Given the description of an element on the screen output the (x, y) to click on. 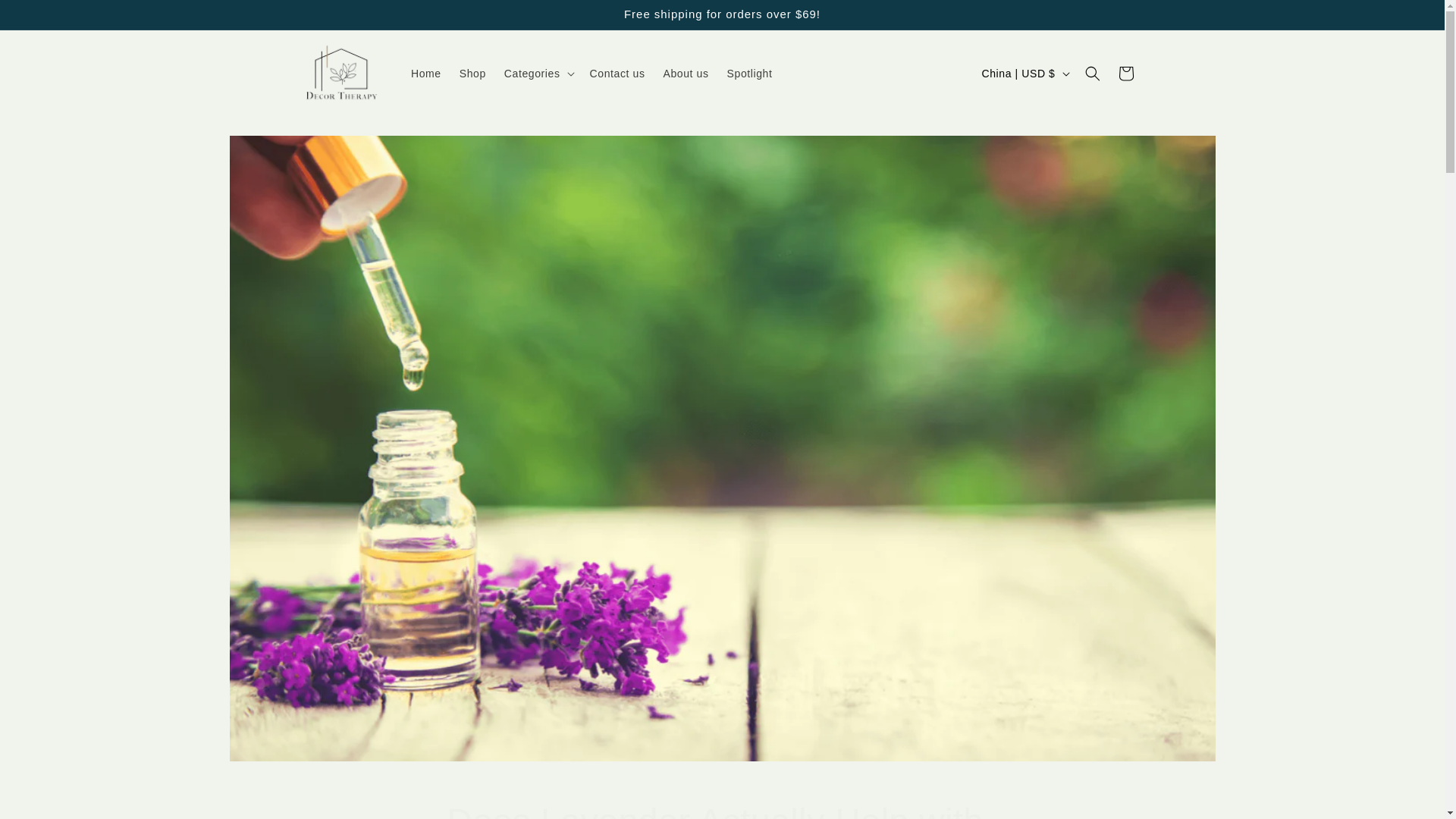
Skip to content (45, 17)
Contact us (616, 73)
Home (425, 73)
Spotlight (721, 809)
About us (749, 73)
Shop (685, 73)
